Given the description of an element on the screen output the (x, y) to click on. 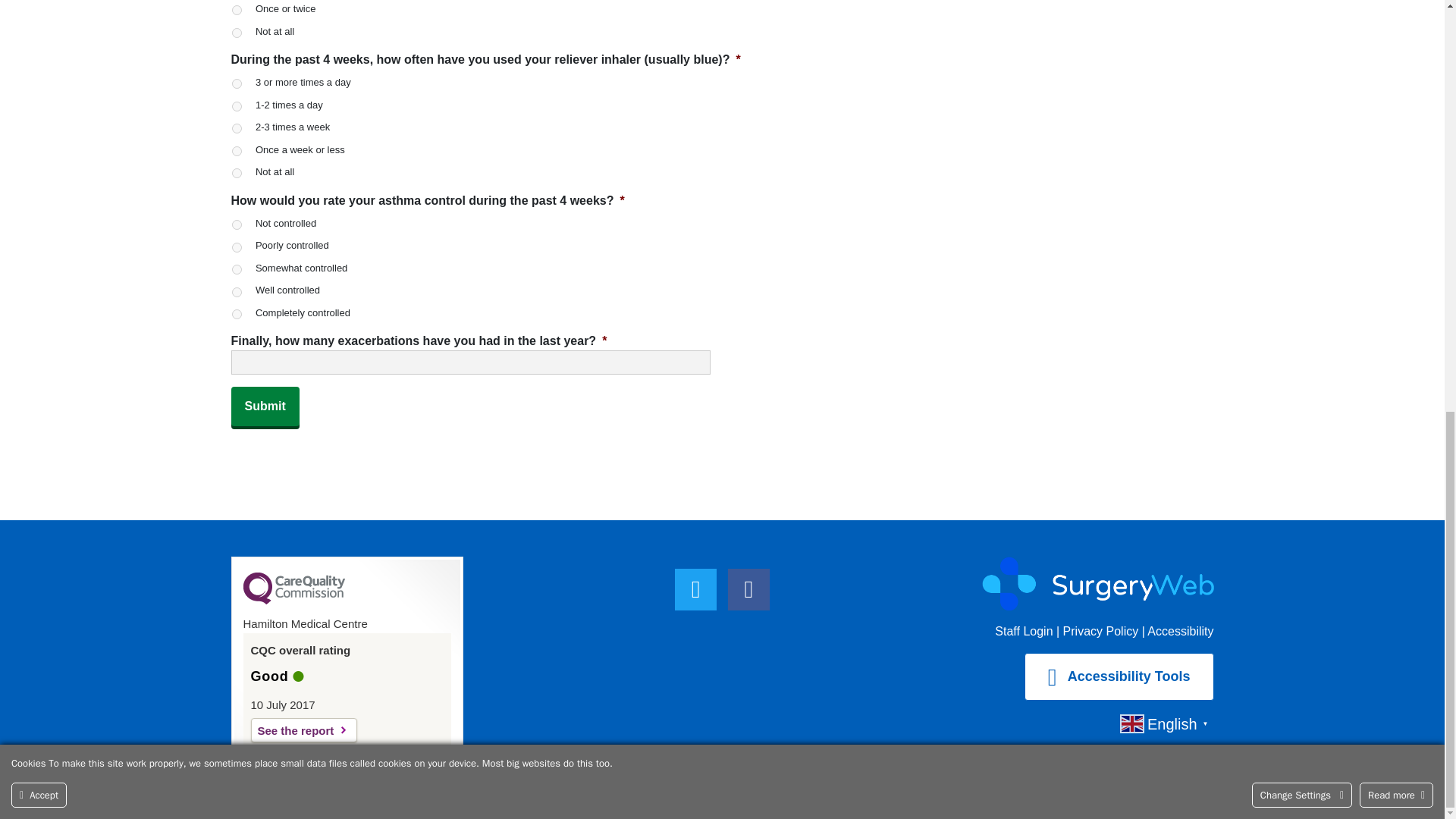
Once or twice (236, 9)
1-2 times a day (236, 106)
3 or more times a day (236, 83)
CQC Logo (293, 600)
Not at all (236, 32)
